Given the description of an element on the screen output the (x, y) to click on. 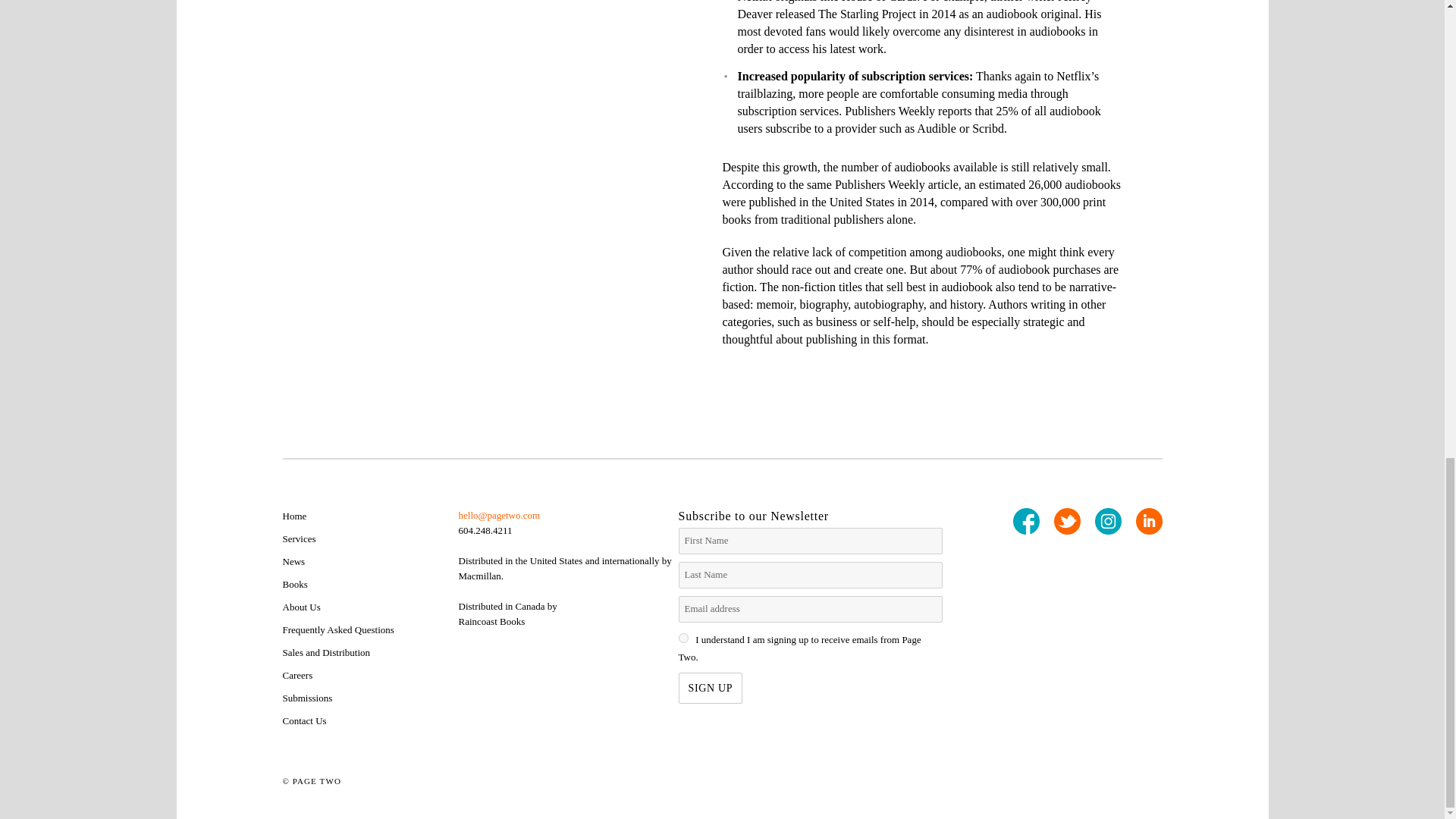
Contact Us (304, 720)
Services (298, 538)
Sales and Distribution (325, 652)
Sign up (710, 687)
Home (293, 515)
Books (294, 583)
Careers (297, 674)
The Starling Project (866, 13)
Submissions (306, 697)
News (293, 561)
Frequently Asked Questions (337, 629)
About Us (301, 606)
Sign up (710, 687)
